Given the description of an element on the screen output the (x, y) to click on. 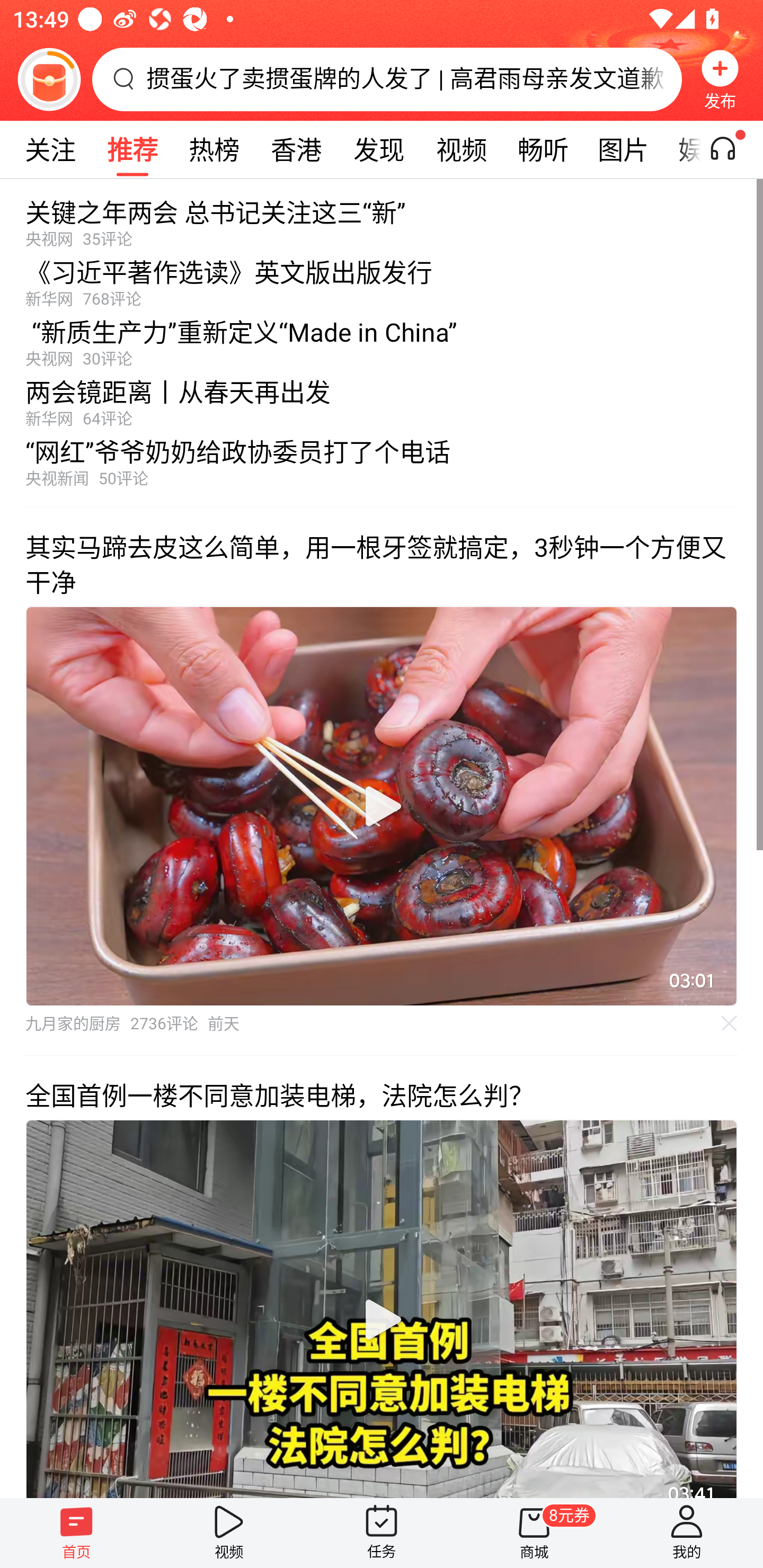
阅读赚金币 (48, 79)
发布 发布，按钮 (720, 78)
关注 (50, 149)
推荐 (132, 149)
热榜 (213, 149)
香港 (295, 149)
发现 (378, 149)
视频 (461, 149)
畅听 (542, 149)
图片 (623, 149)
听一听开关 (732, 149)
两会镜距离丨从春天再出发新华网64评论 文章 两会镜距离丨从春天再出发 新华网64评论 (381, 398)
播放视频 视频播放器，双击屏幕打开播放控制 (381, 805)
播放视频 (381, 806)
不感兴趣 (729, 1023)
全国首例一楼不同意加装电梯，法院怎么判？ 播放视频 视频播放器，双击屏幕打开播放控制 (381, 1276)
播放视频 视频播放器，双击屏幕打开播放控制 (381, 1308)
播放视频 (381, 1319)
首页 (76, 1532)
视频 (228, 1532)
任务 (381, 1532)
商城 8元券 (533, 1532)
我的 (686, 1532)
